Given the description of an element on the screen output the (x, y) to click on. 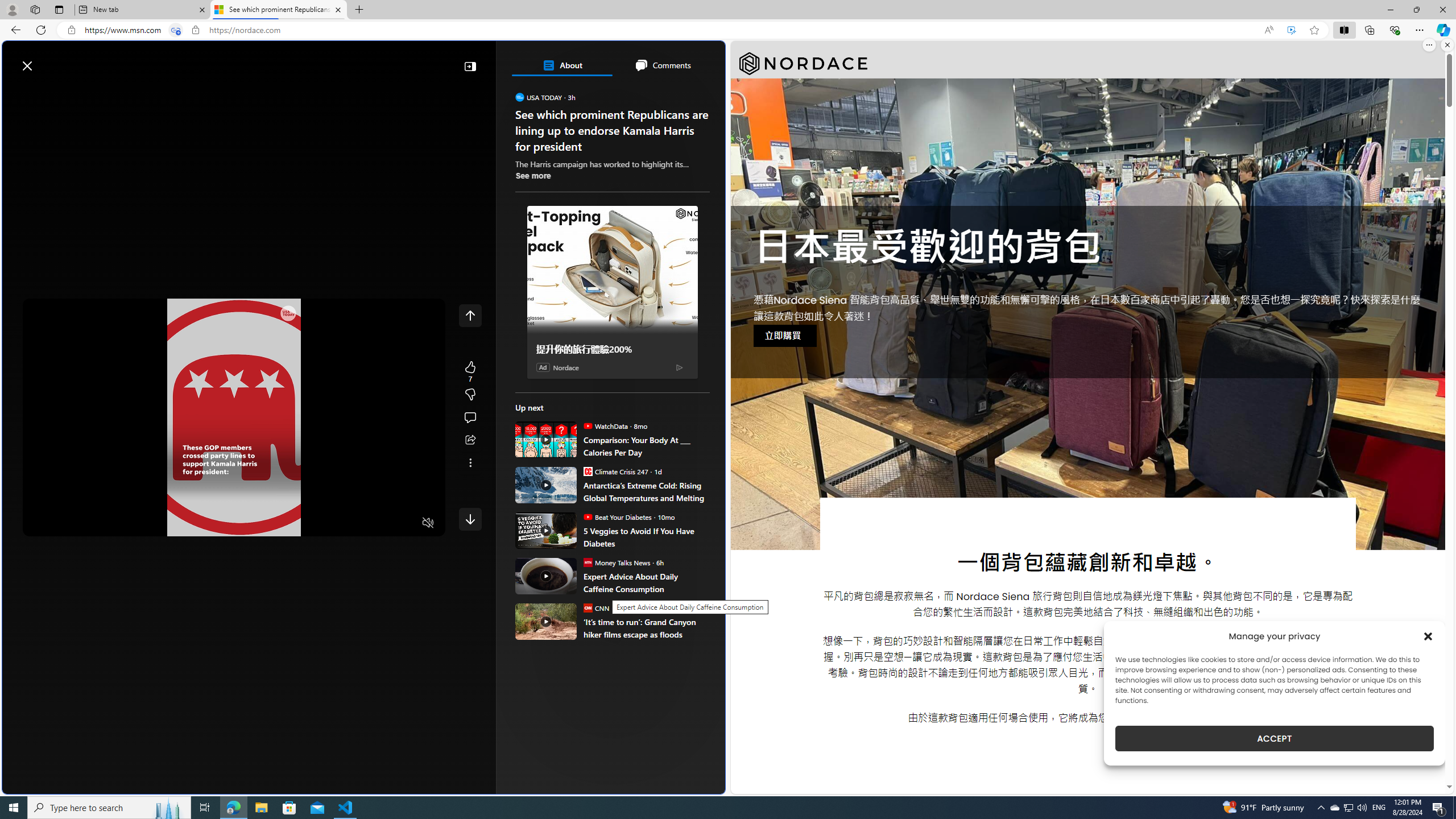
Captions (383, 523)
More options. (1428, 45)
The Seeing Eye (579, 249)
Progress Bar (234, 508)
Open settings (699, 60)
WatchData (587, 425)
Class: cmplz-close (1428, 636)
